Given the description of an element on the screen output the (x, y) to click on. 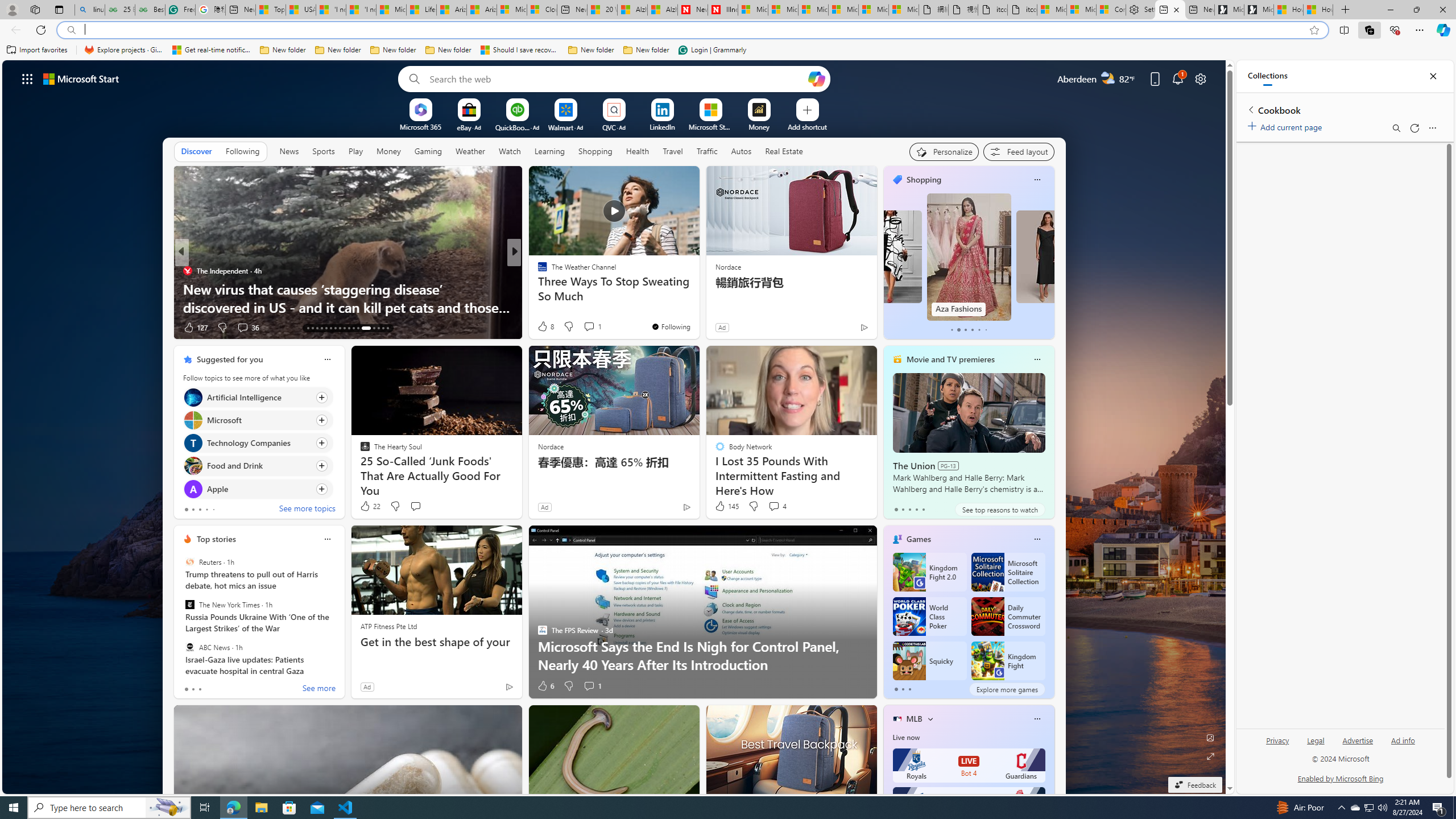
See top reasons to watch (999, 509)
86 Like (543, 327)
Artificial Intelligence (192, 397)
AutomationID: tab-23 (353, 328)
